Given the description of an element on the screen output the (x, y) to click on. 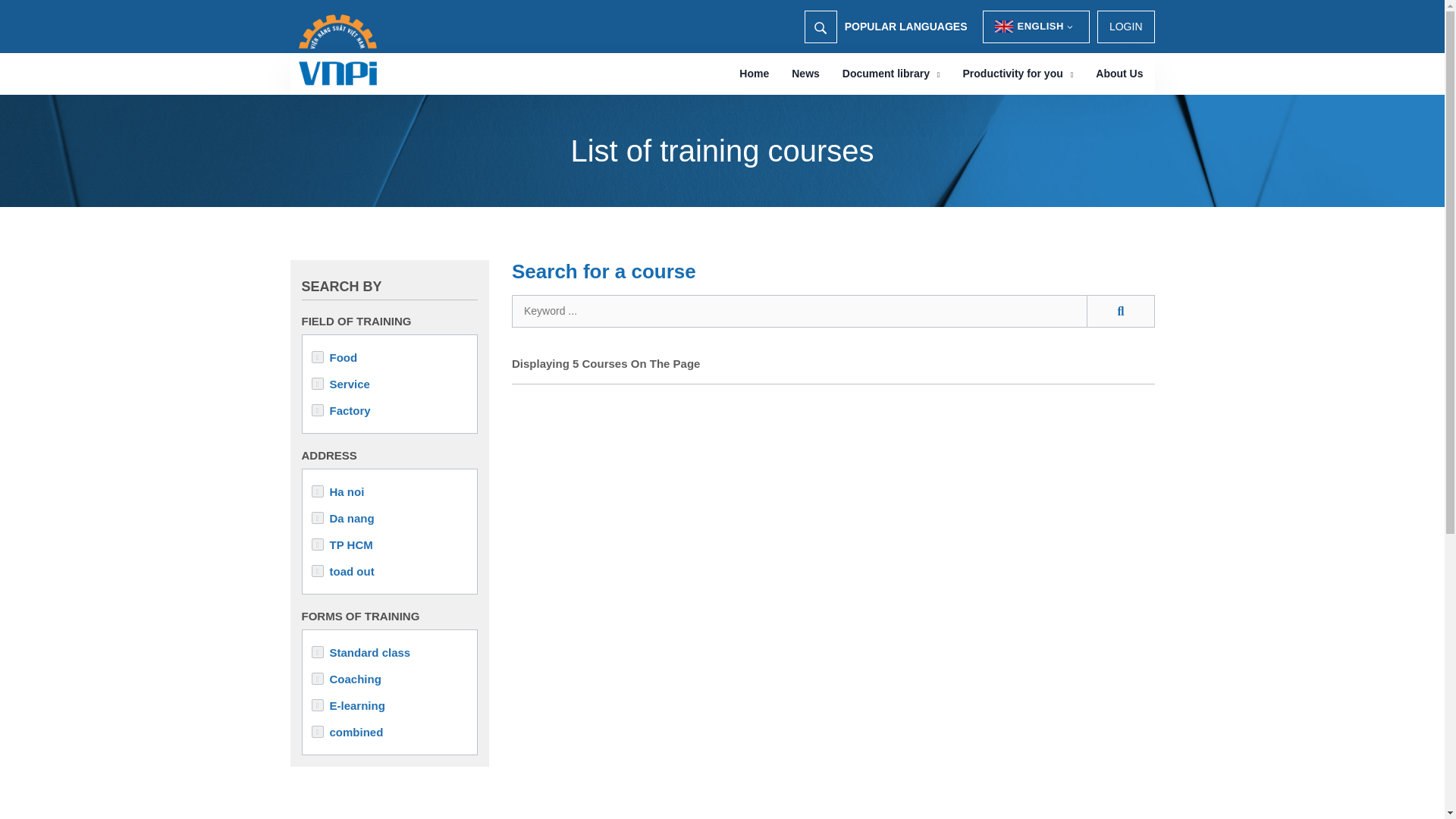
Document library (891, 74)
LOGIN (1125, 26)
About Us (1119, 74)
Productivity for you (1018, 74)
